Given the description of an element on the screen output the (x, y) to click on. 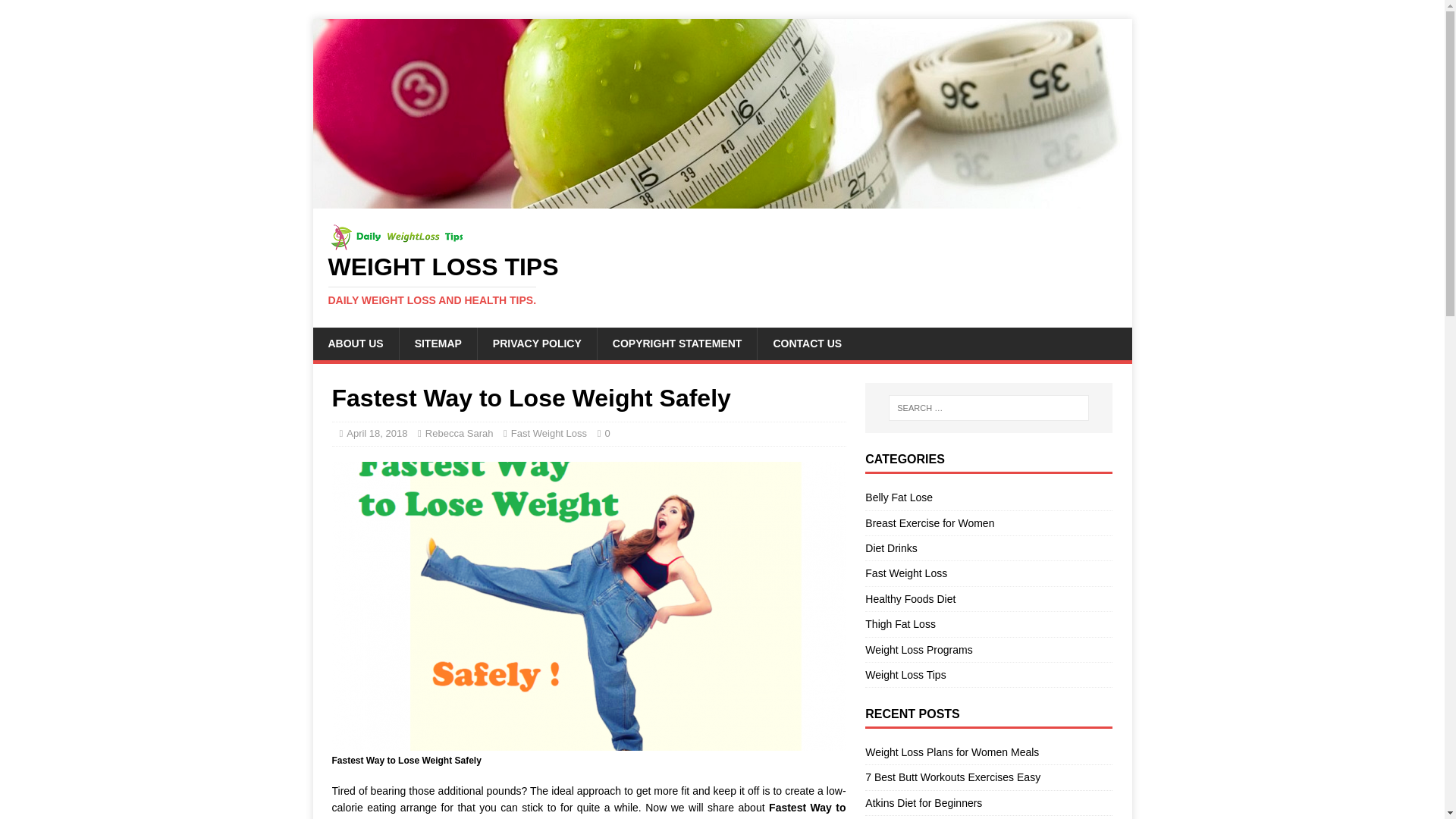
Fast Weight Loss (988, 573)
Belly Fat Lose (988, 498)
SITEMAP (437, 343)
Weight Loss Tips (988, 674)
Atkins Diet for Beginners (922, 802)
April 18, 2018 (721, 280)
ABOUT US (376, 432)
Weight Loss Programs (355, 343)
Diet Drinks (988, 649)
Weight Loss Plans for Women Meals (988, 548)
Breast Exercise for Women (951, 752)
Fast Weight Loss (988, 523)
Weight Loss Tips (548, 432)
CONTACT US (721, 280)
